Given the description of an element on the screen output the (x, y) to click on. 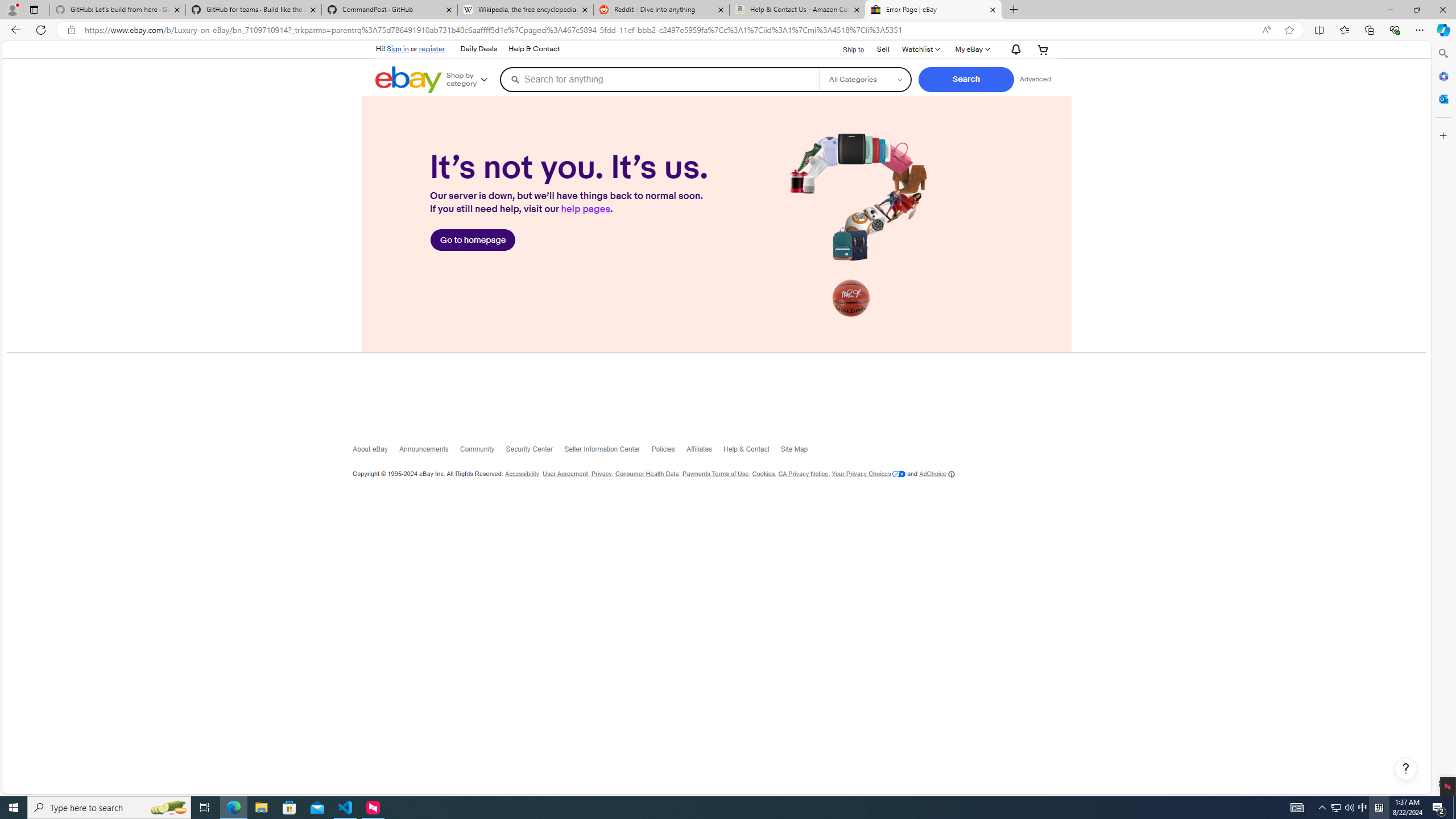
Help, opens dialogs (1405, 768)
Policies (667, 451)
Seller Information Center (608, 451)
Watchlist (920, 49)
Cookies (762, 473)
User Agreement (565, 473)
Help & Contact Us - Amazon Customer Service - Sleeping (797, 9)
My eBayExpand My eBay (972, 49)
Community (483, 451)
Announcements (429, 451)
